Given the description of an element on the screen output the (x, y) to click on. 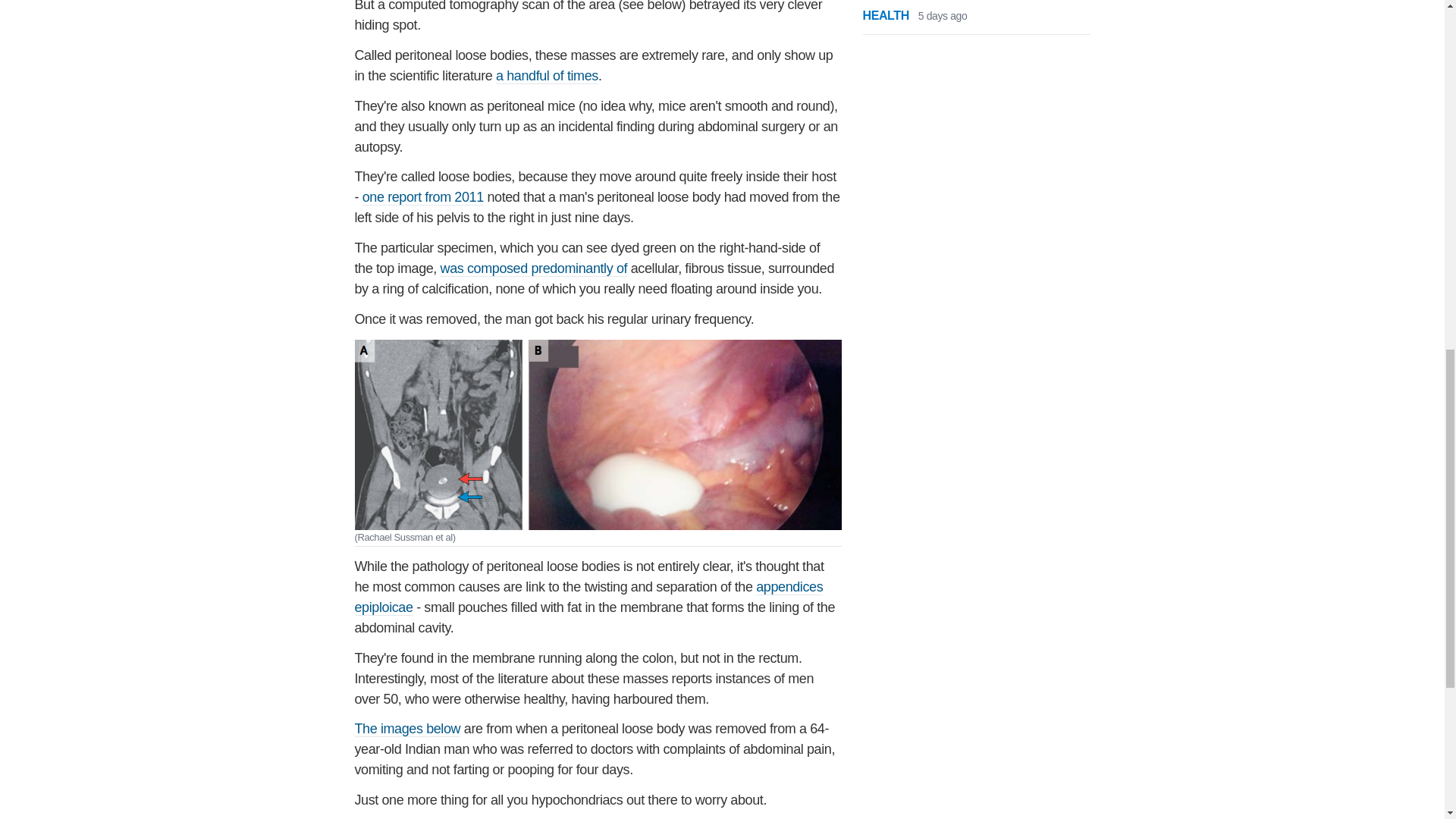
a handful of times (547, 75)
one report from 2011 (422, 197)
appendices epiploicae (589, 597)
The images below (408, 729)
was composed predominantly of (534, 268)
